Given the description of an element on the screen output the (x, y) to click on. 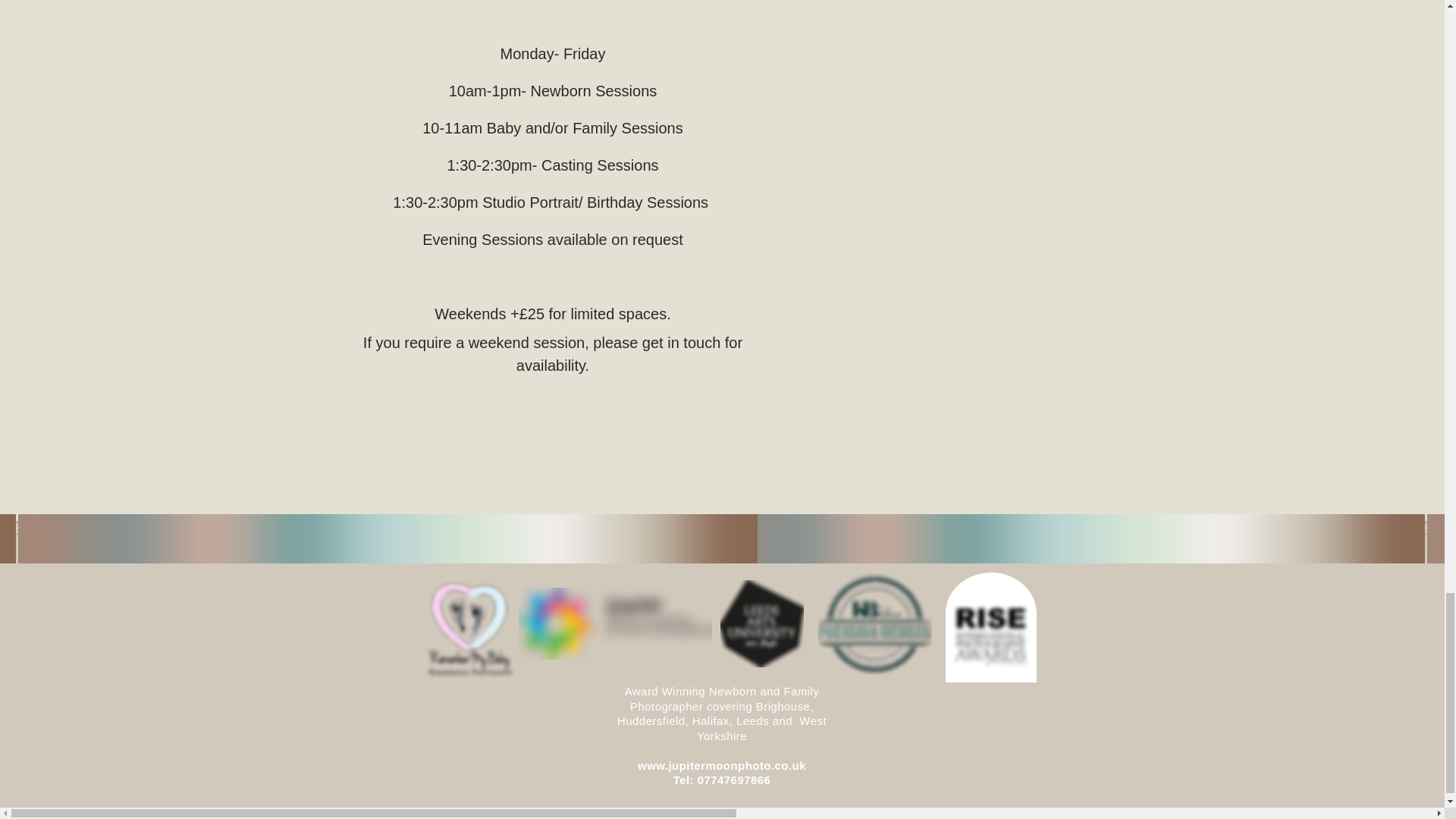
Logo of organisation Maisy is registered with  (614, 624)
Branding colours of Jupiter Moon Photography (387, 538)
www.jupitermoonphoto.co.uk (721, 765)
Jupiter Moon Logo colours (1055, 538)
Logo of university where photogarapher studied (761, 623)
